Given the description of an element on the screen output the (x, y) to click on. 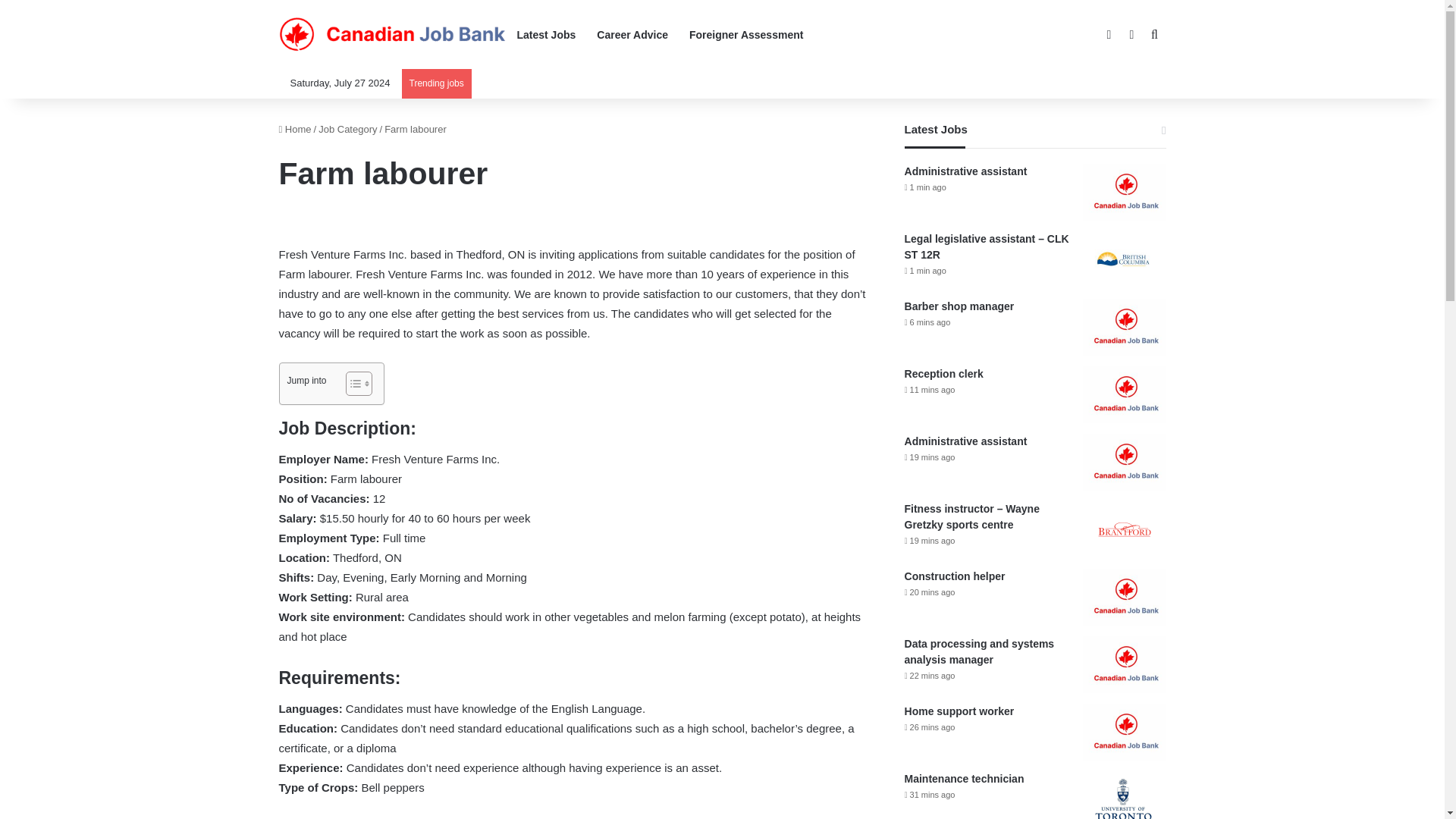
Job Category (347, 129)
Administrative assistant (965, 171)
Foreigner Assessment (745, 34)
Career Advice (632, 34)
Canadian Job Bank (392, 34)
Home (295, 129)
Latest Jobs (546, 34)
